Given the description of an element on the screen output the (x, y) to click on. 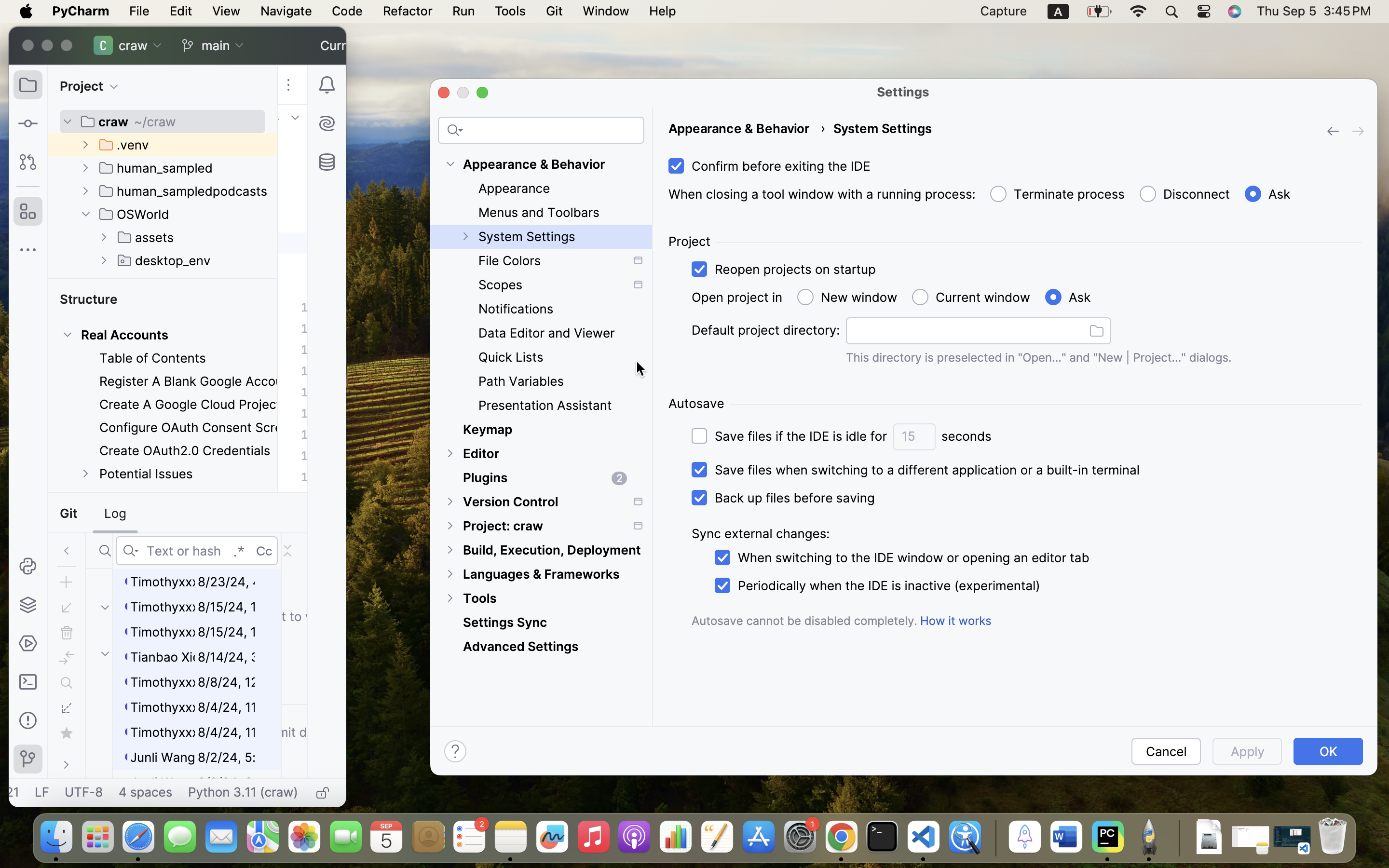
When closing a tool window with a running process: Element type: AXStaticText (821, 194)
Project Element type: AXStaticText (688, 241)
Default project directory: Element type: AXStaticText (765, 330)
Settings Element type: AXStaticText (902, 91)
